Given the description of an element on the screen output the (x, y) to click on. 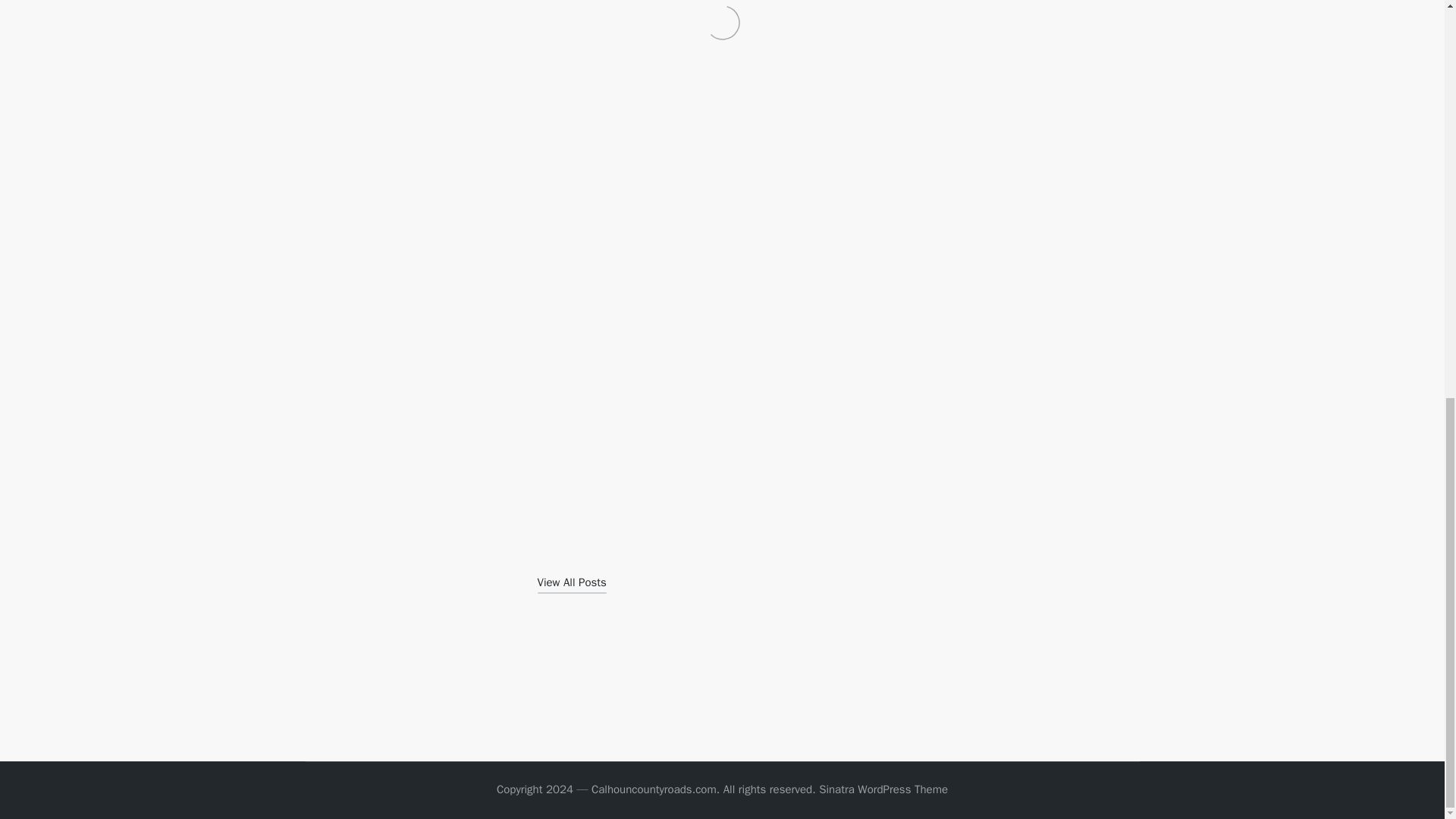
What is Baccarat? (854, 682)
The Advantages and Disadvantages of a Live Casino (589, 691)
admin (557, 548)
Sinatra WordPress Theme (882, 790)
View All Posts (571, 582)
